Given the description of an element on the screen output the (x, y) to click on. 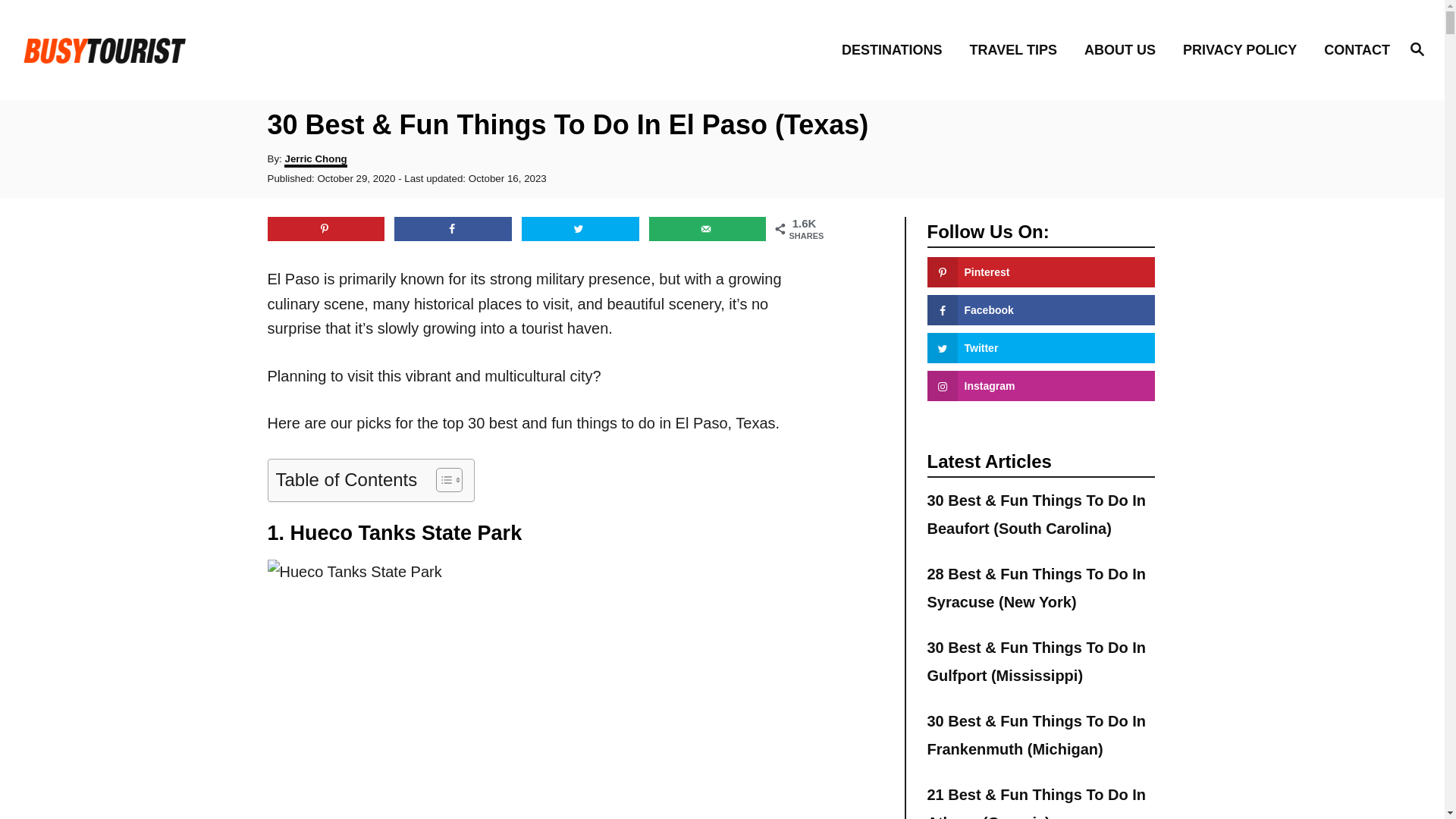
Share on Facebook (453, 228)
Send over email (708, 228)
TRAVEL TIPS (1017, 49)
Magnifying Glass (1416, 48)
Share on Twitter (580, 228)
Jerric Chong (314, 160)
Save to Pinterest (325, 228)
ABOUT US (1124, 49)
Busy Tourist (187, 49)
DESTINATIONS (896, 49)
